Given the description of an element on the screen output the (x, y) to click on. 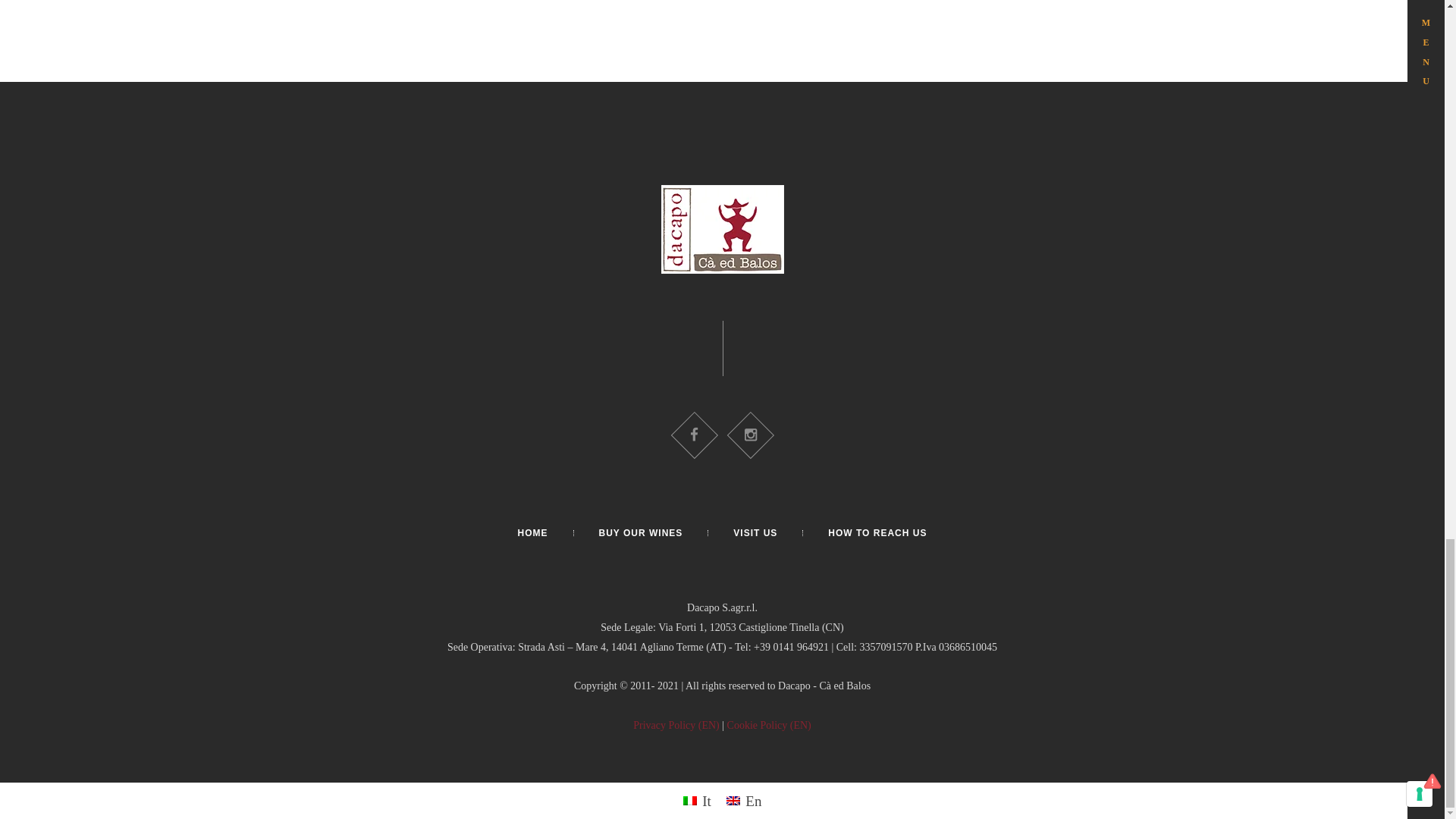
HOME (533, 532)
HOW TO REACH US (877, 532)
BUY OUR WINES (640, 532)
VISIT US (755, 532)
